Given the description of an element on the screen output the (x, y) to click on. 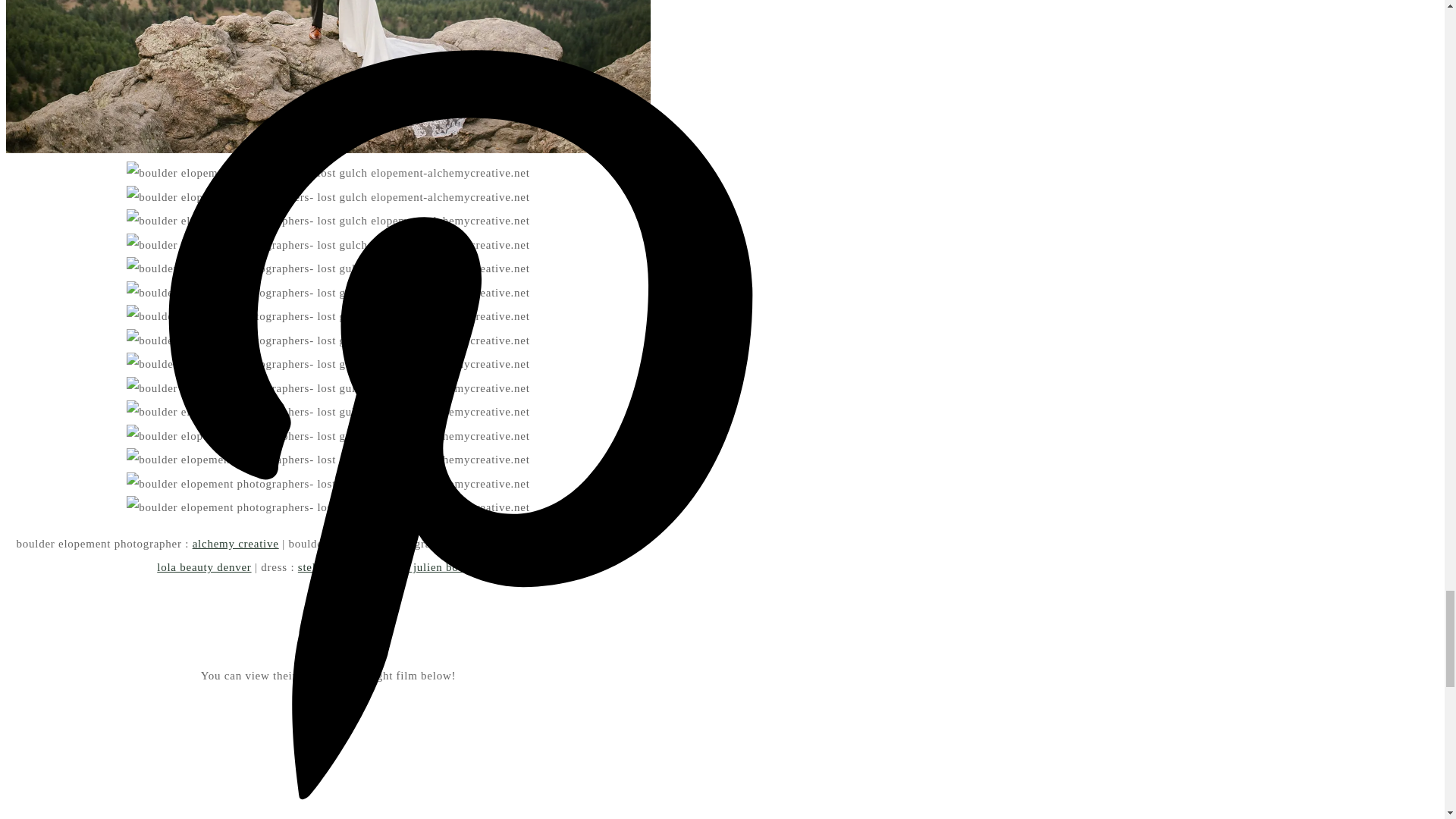
stella york (325, 567)
alchemy creative (507, 543)
alchemy creative (235, 543)
st. julien boulder,co (448, 567)
lola beauty denver (203, 567)
